Given the description of an element on the screen output the (x, y) to click on. 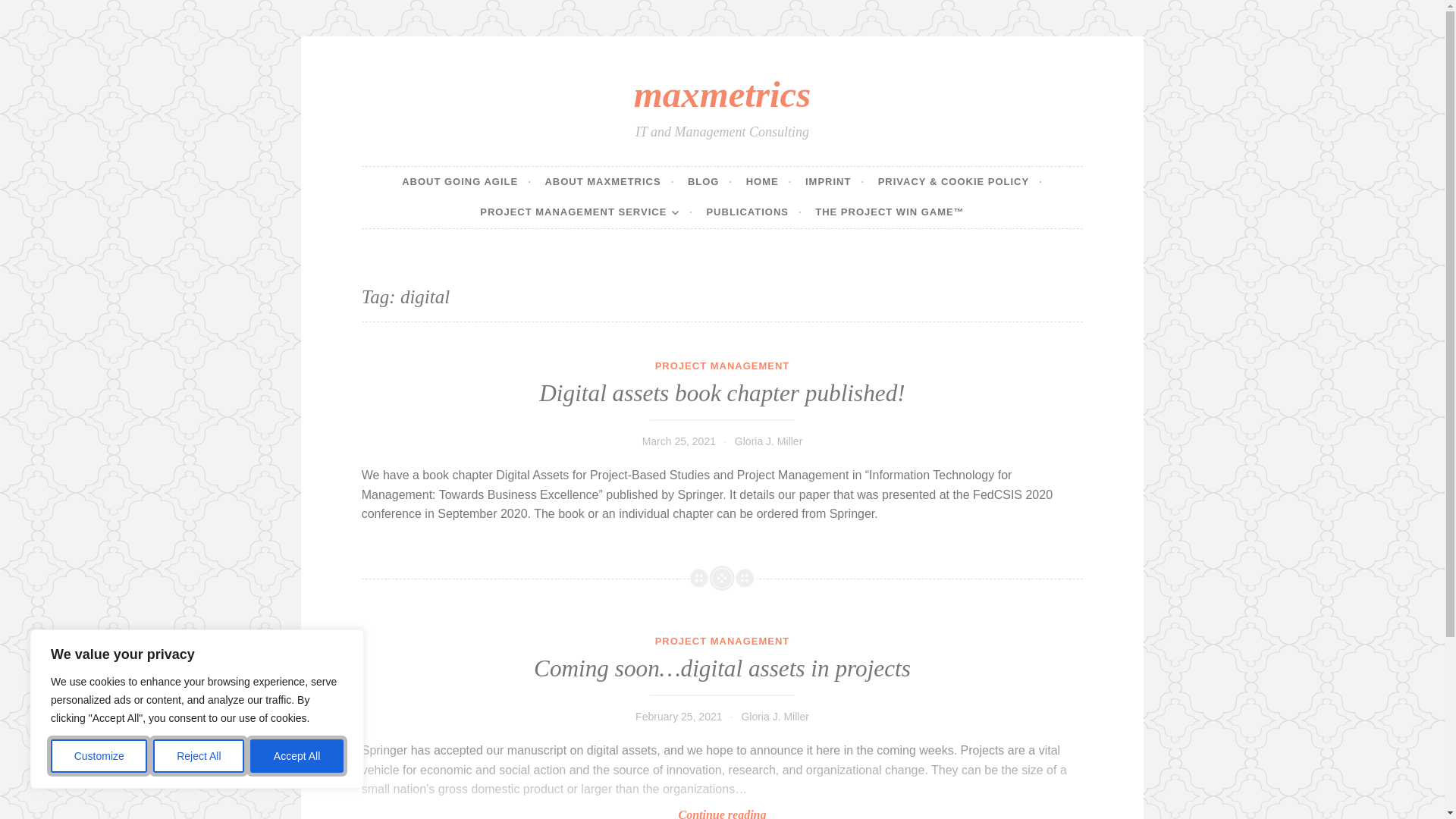
PROJECT MANAGEMENT (722, 641)
Customize (98, 756)
Accept All (296, 756)
ABOUT GOING AGILE (466, 182)
PUBLICATIONS (754, 212)
PROJECT MANAGEMENT (722, 365)
PROJECT MANAGEMENT SERVICE (586, 212)
maxmetrics (721, 94)
March 25, 2021 (679, 440)
Gloria J. Miller (768, 440)
